Given the description of an element on the screen output the (x, y) to click on. 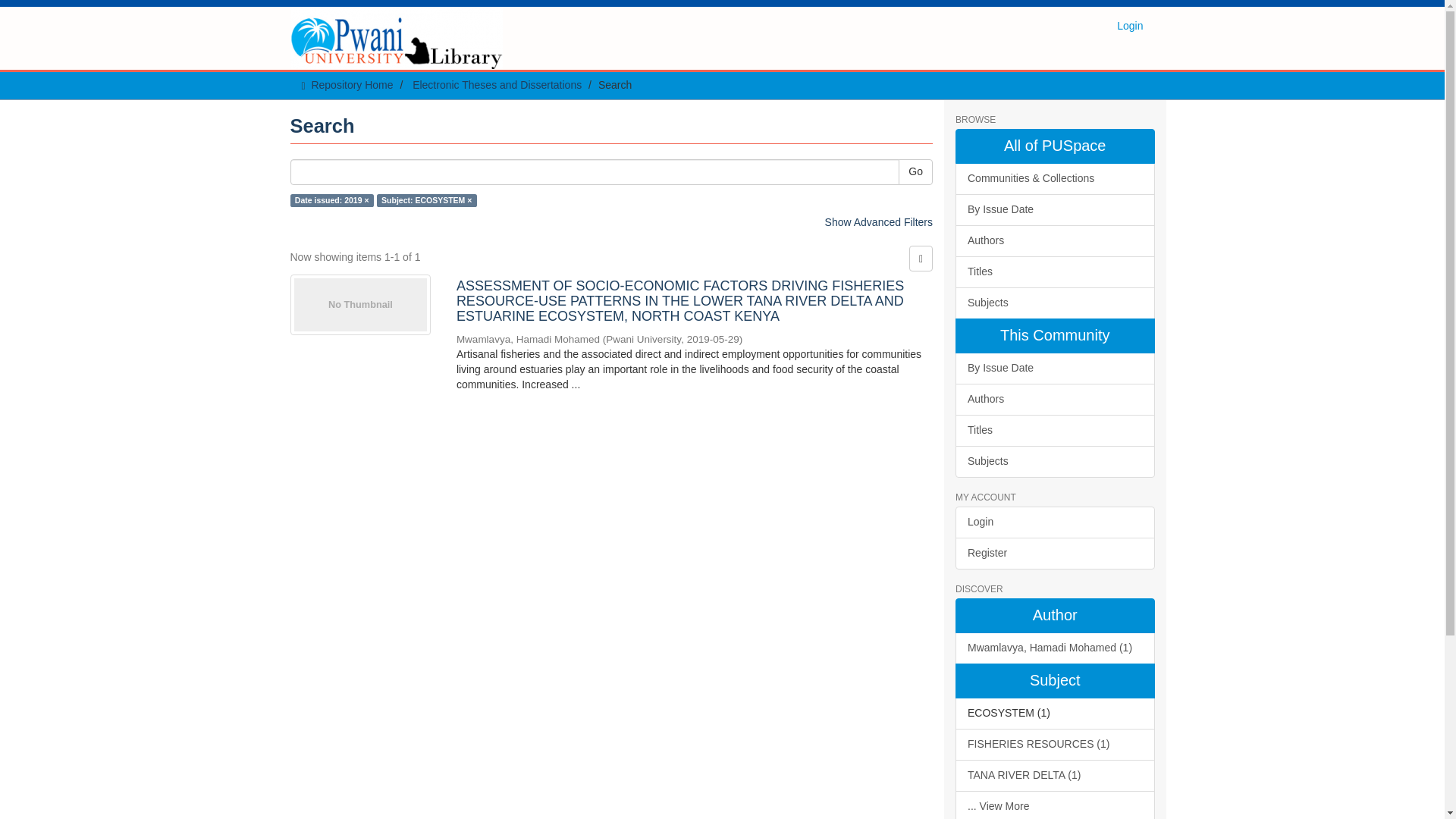
Electronic Theses and Dissertations (496, 84)
Show Advanced Filters (879, 222)
Login (1129, 25)
Repository Home (352, 84)
Go (915, 171)
